Given the description of an element on the screen output the (x, y) to click on. 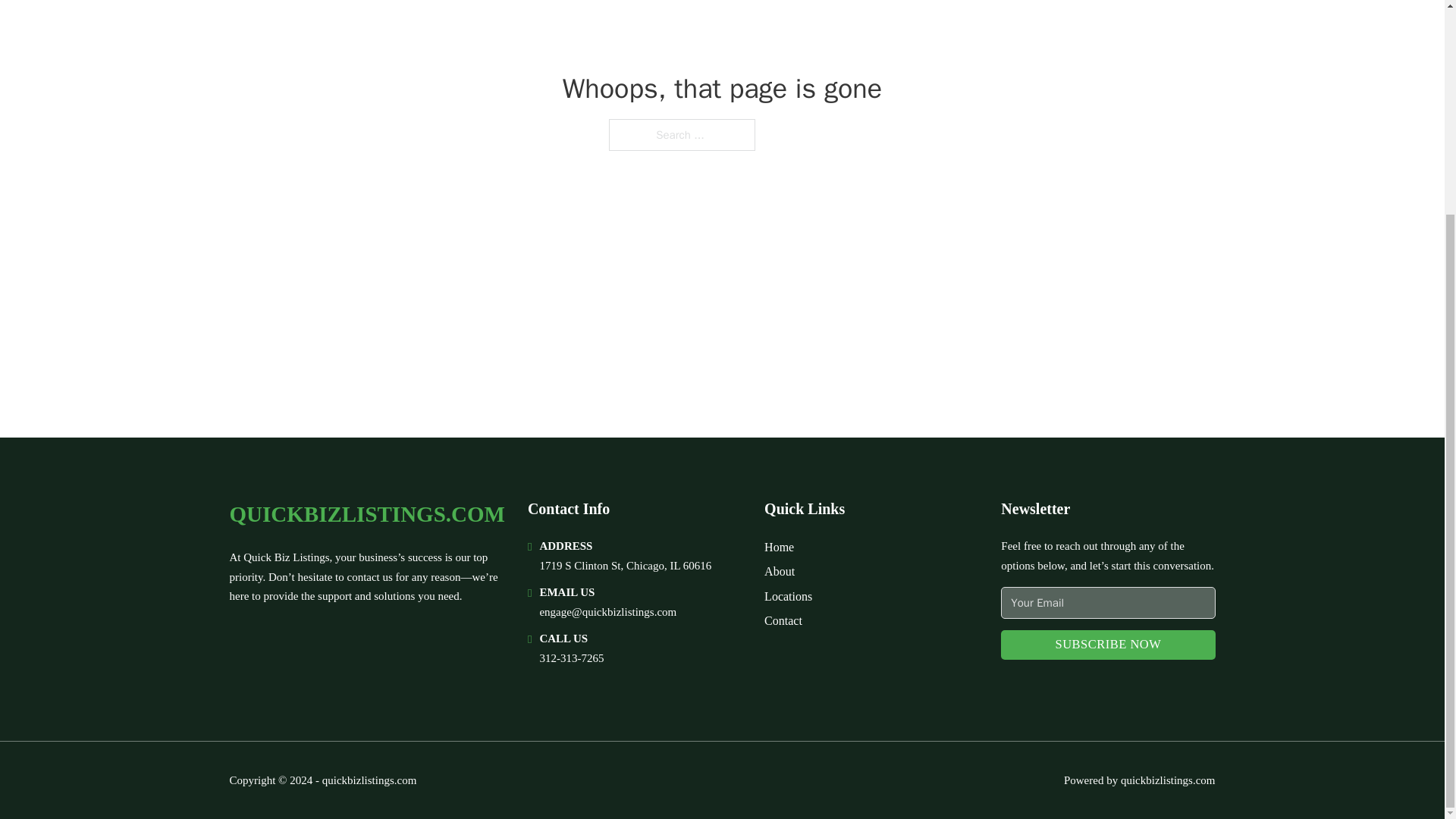
About (779, 571)
Contact (783, 620)
QUICKBIZLISTINGS.COM (365, 514)
Home (778, 547)
SUBSCRIBE NOW (1107, 644)
Locations (788, 596)
312-313-7265 (571, 657)
